Given the description of an element on the screen output the (x, y) to click on. 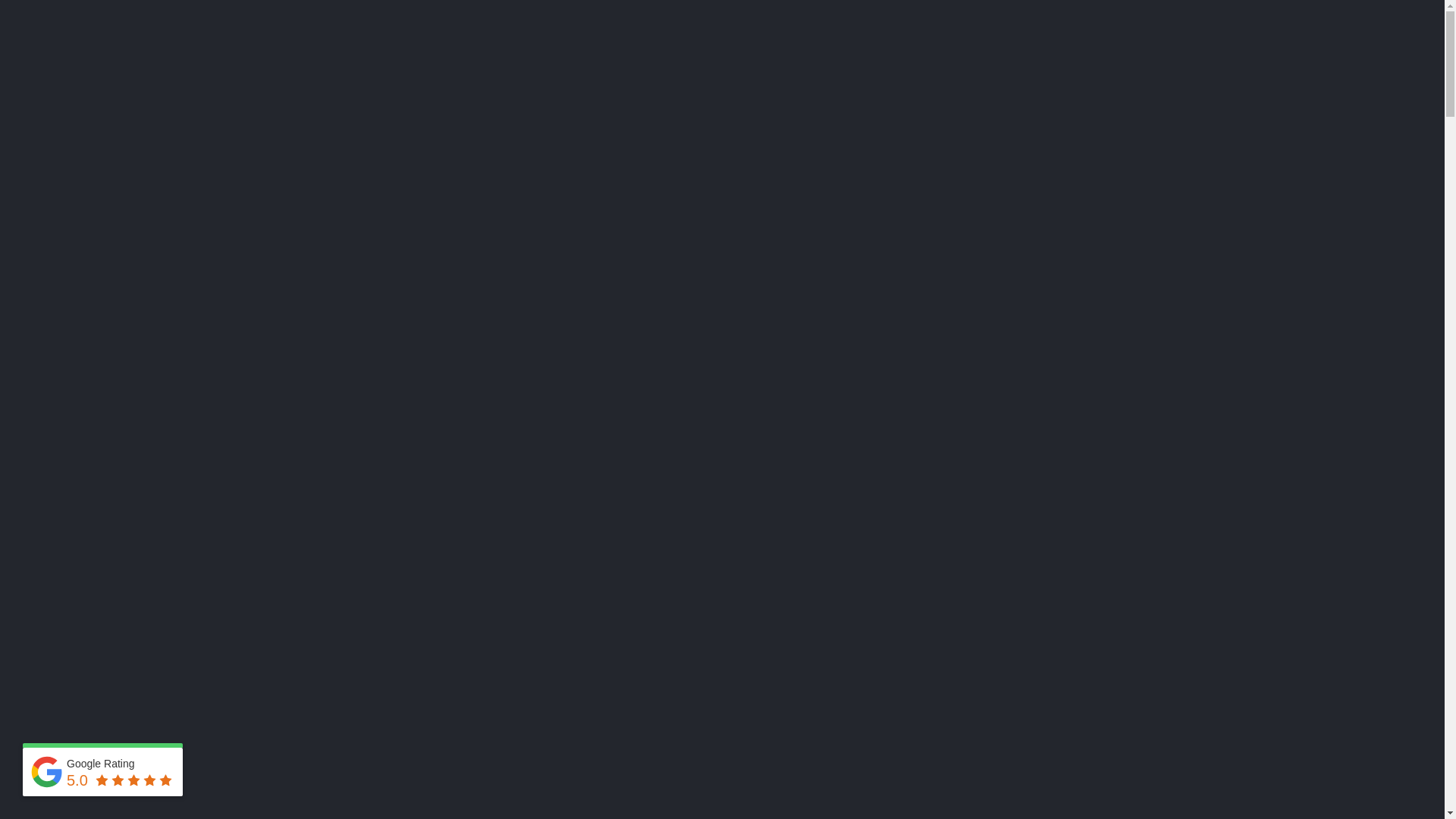
Contact Element type: text (1071, 62)
commercial Element type: text (315, 723)
icon_home.png Element type: hover (315, 283)
icon_commercial.png Element type: hover (315, 341)
Off-Grid Element type: text (825, 62)
icon_offgrid.png Element type: hover (315, 400)
Get a Free Quote Today! Element type: text (348, 153)
Instagram page opens in new window Element type: text (1150, 11)
green-gradient Element type: hover (722, 509)
Blog Element type: text (1013, 62)
Home Element type: text (587, 62)
Apply Now! Element type: text (611, 474)
Battery Element type: text (958, 62)
Commercial Element type: text (746, 62)
Finance Element type: text (893, 62)
Facebook page opens in new window Element type: text (1130, 11)
Residential Element type: text (657, 62)
green-gradient Element type: hover (400, 643)
